Given the description of an element on the screen output the (x, y) to click on. 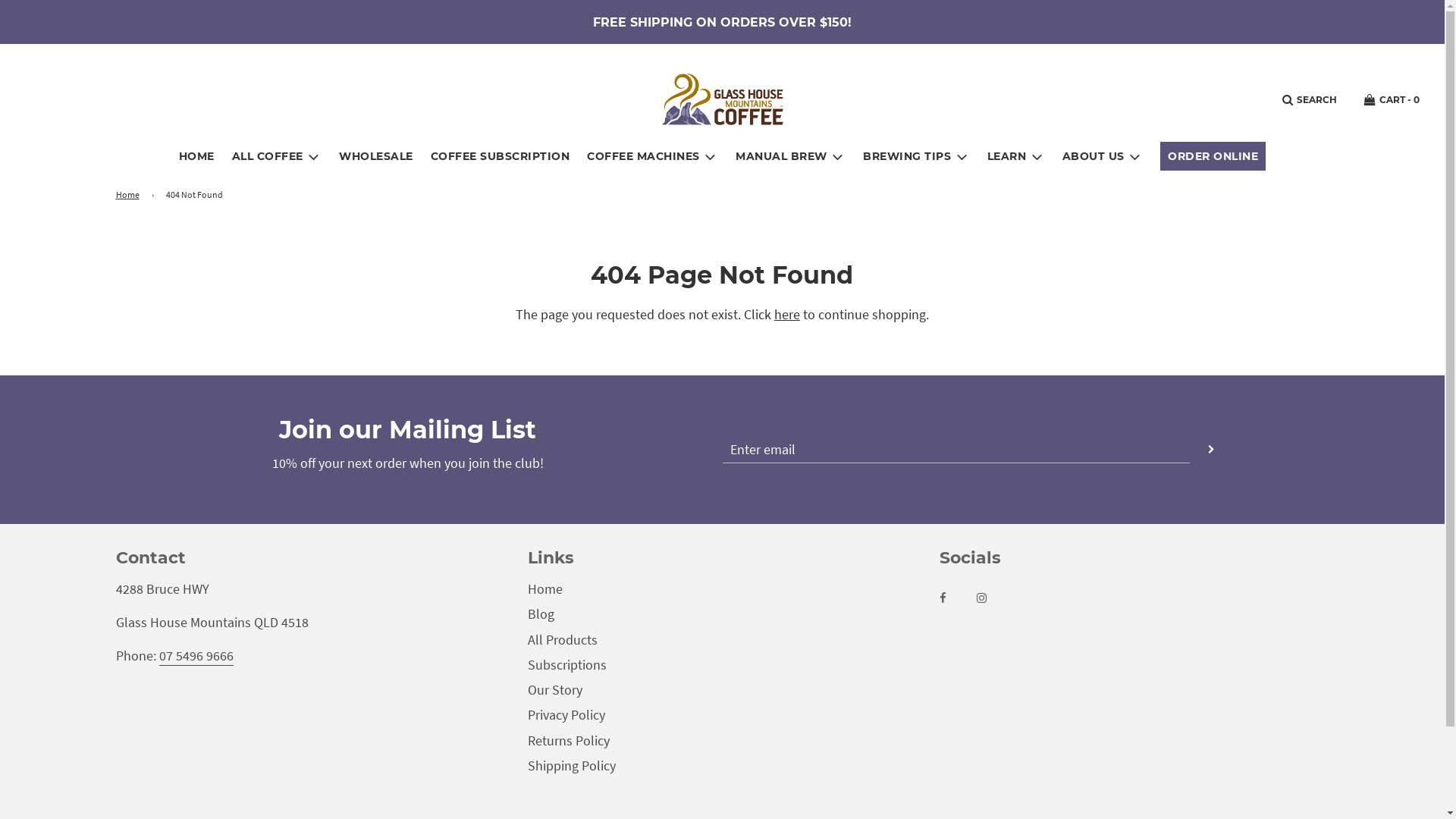
Subscriptions Element type: text (566, 664)
07 5496 9666 Element type: text (196, 655)
Home Element type: text (544, 588)
ABOUT US Element type: text (1102, 156)
All Products Element type: text (562, 639)
BREWING TIPS Element type: text (916, 156)
COFFEE SUBSCRIPTION Element type: text (500, 156)
HOME Element type: text (196, 156)
SEARCH Element type: text (1309, 99)
COFFEE MACHINES Element type: text (652, 156)
Privacy Policy Element type: text (566, 714)
ORDER ONLINE Element type: text (1212, 156)
Returns Policy Element type: text (568, 740)
MANUAL BREW Element type: text (790, 156)
Blog Element type: text (540, 613)
CART - 0 Element type: text (1391, 99)
ALL COFFEE Element type: text (276, 156)
LEARN Element type: text (1015, 156)
Shipping Policy Element type: text (571, 765)
Our Story Element type: text (554, 689)
here Element type: text (787, 314)
WHOLESALE Element type: text (375, 156)
Home Element type: text (129, 194)
